Given the description of an element on the screen output the (x, y) to click on. 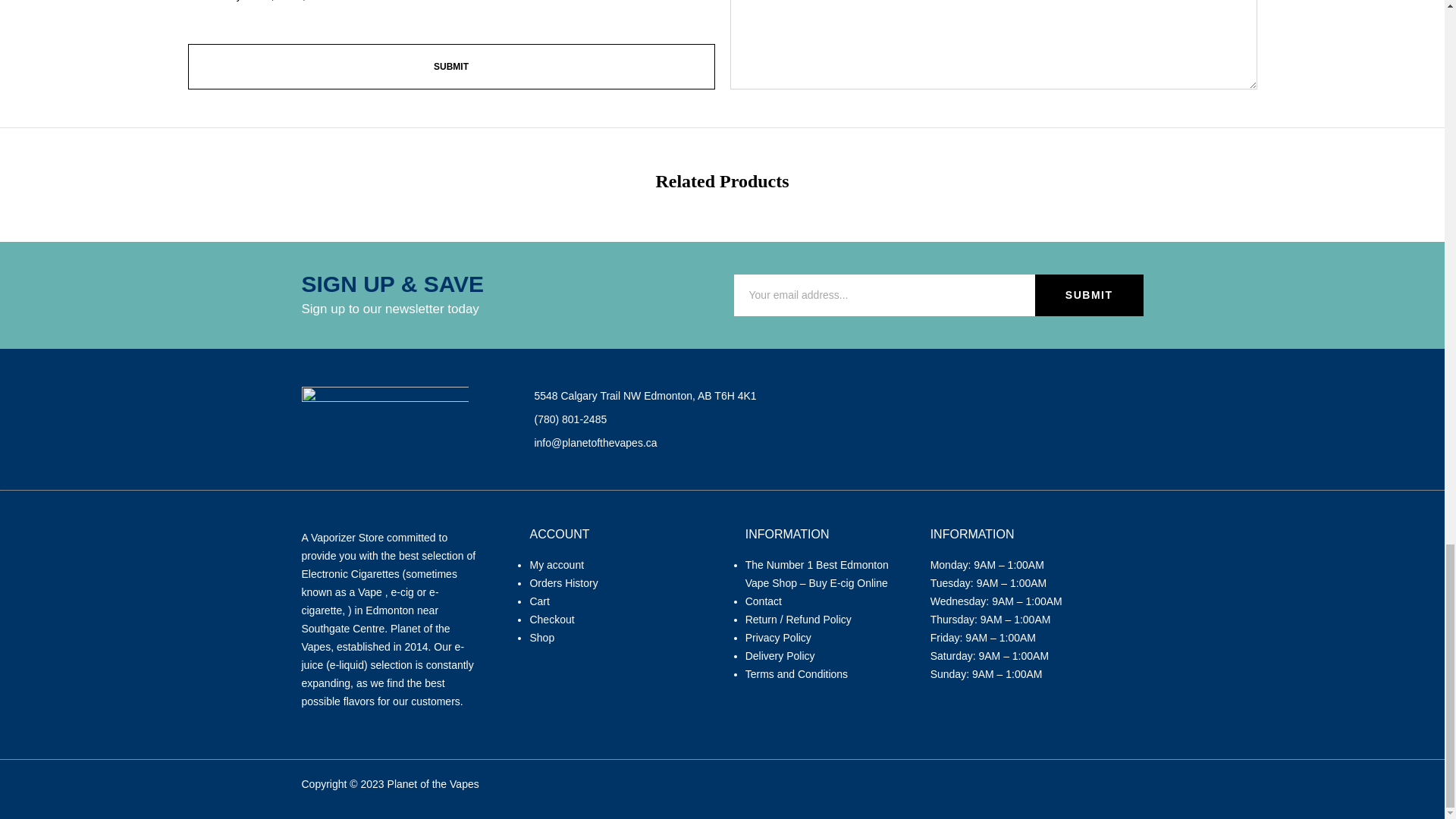
SUBMIT (1088, 295)
Submit (450, 66)
